Given the description of an element on the screen output the (x, y) to click on. 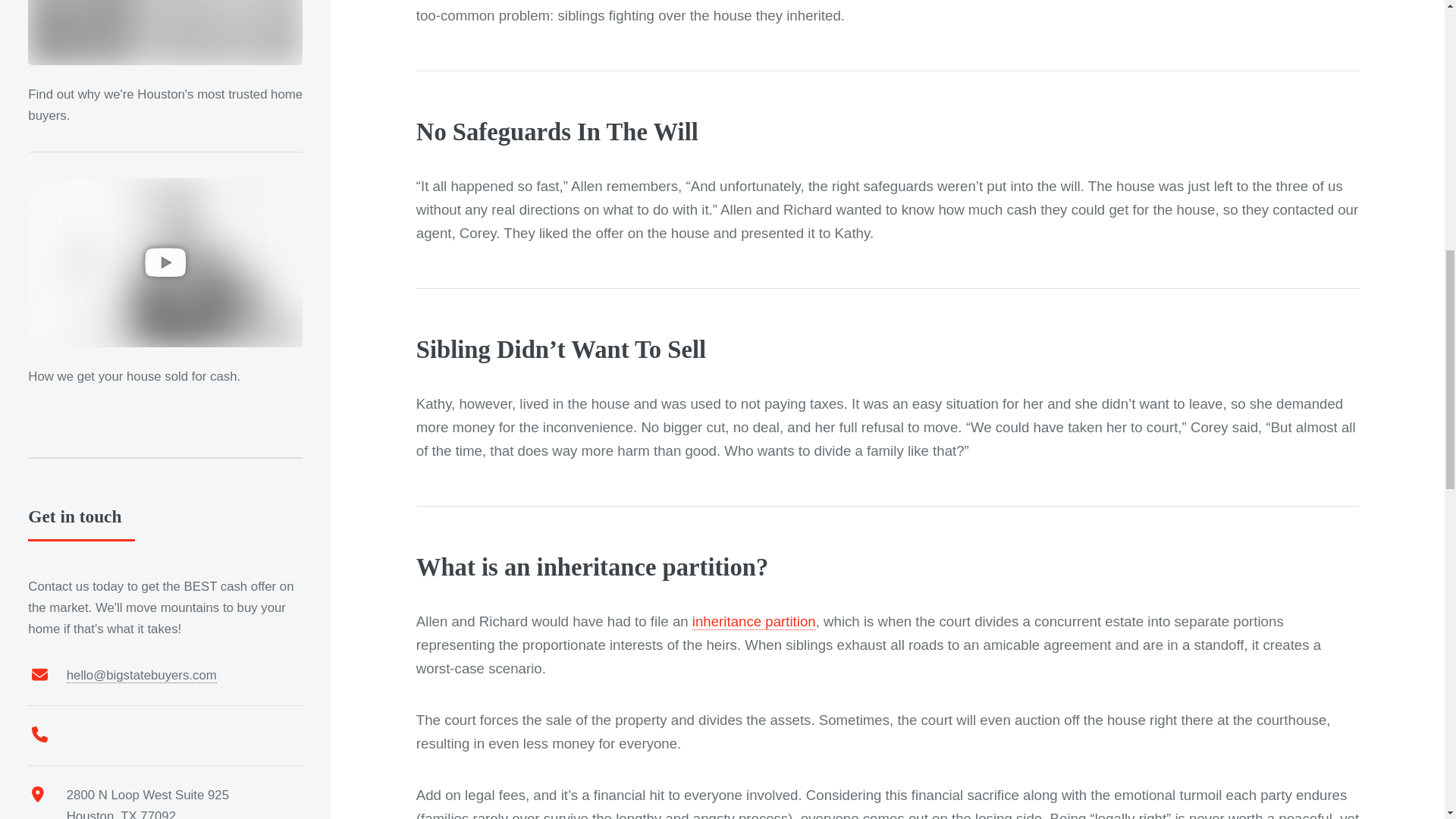
inheritance partition (754, 621)
